Given the description of an element on the screen output the (x, y) to click on. 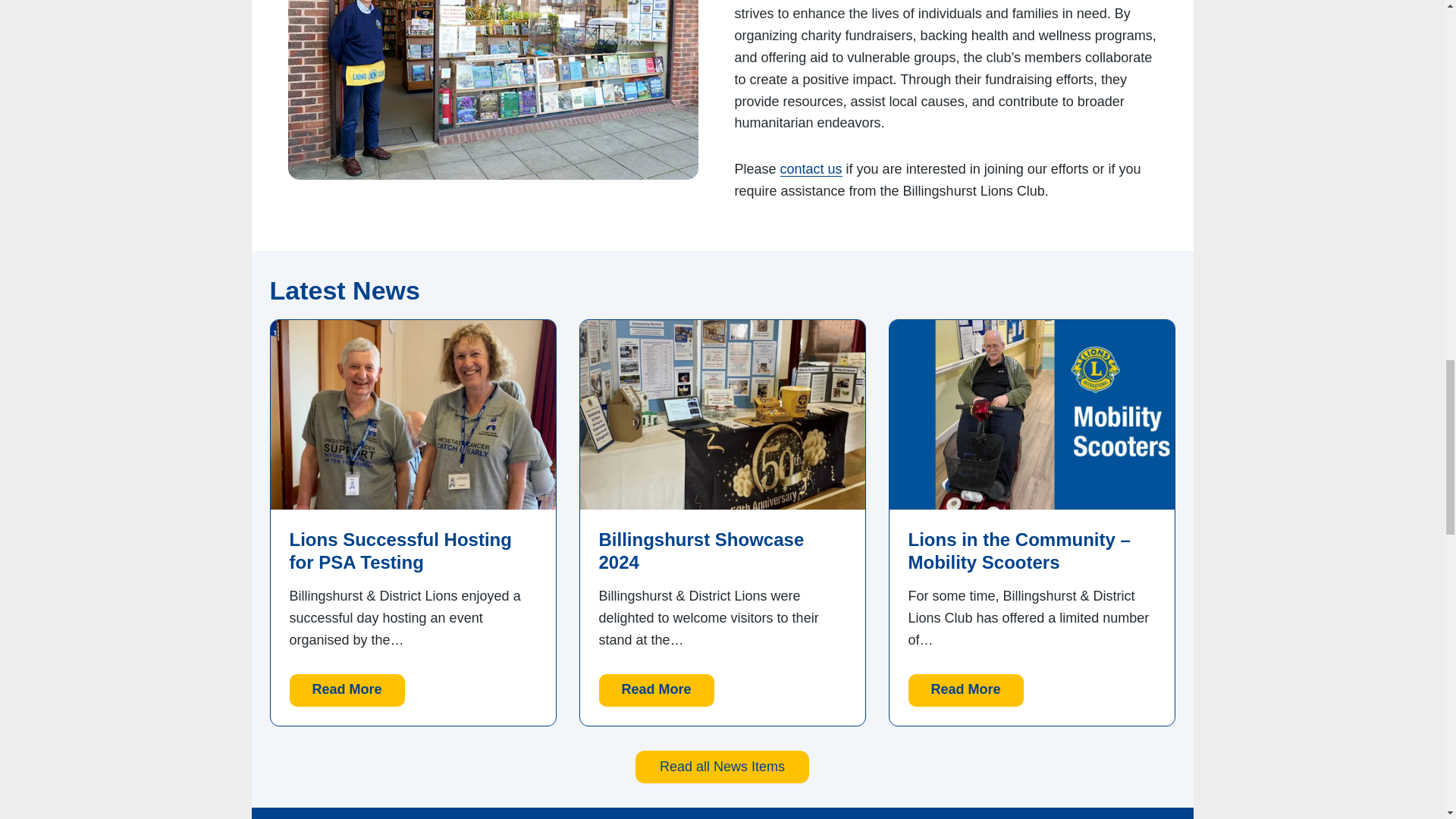
contact us (811, 168)
Lions Successful Hosting for PSA Testing (346, 690)
Billingshurst Lions Bookshop (413, 551)
Read all News Items (656, 690)
Billingshurst Showcase 2024 (493, 89)
